Given the description of an element on the screen output the (x, y) to click on. 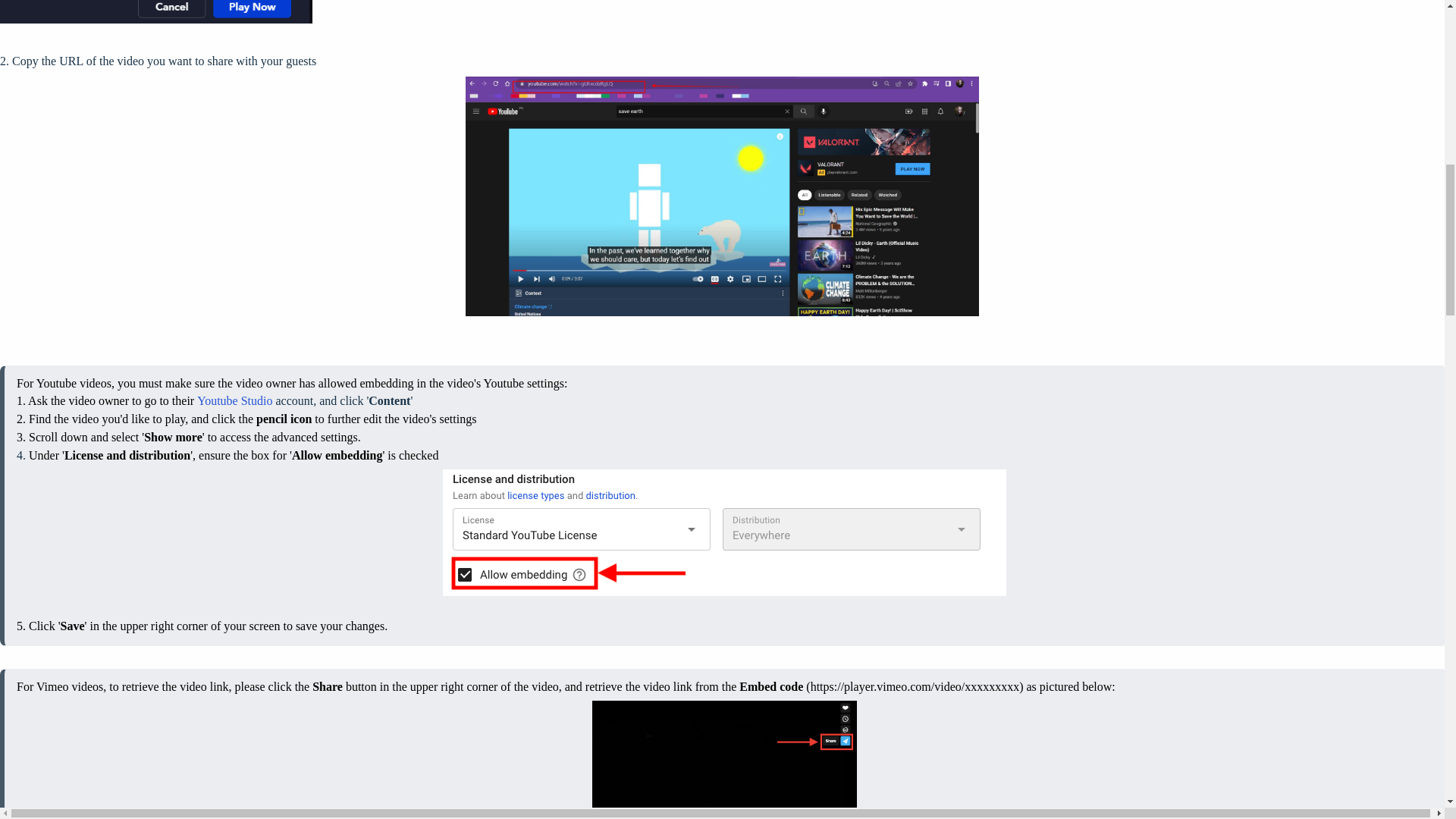
Youtube Studio (234, 400)
